Given the description of an element on the screen output the (x, y) to click on. 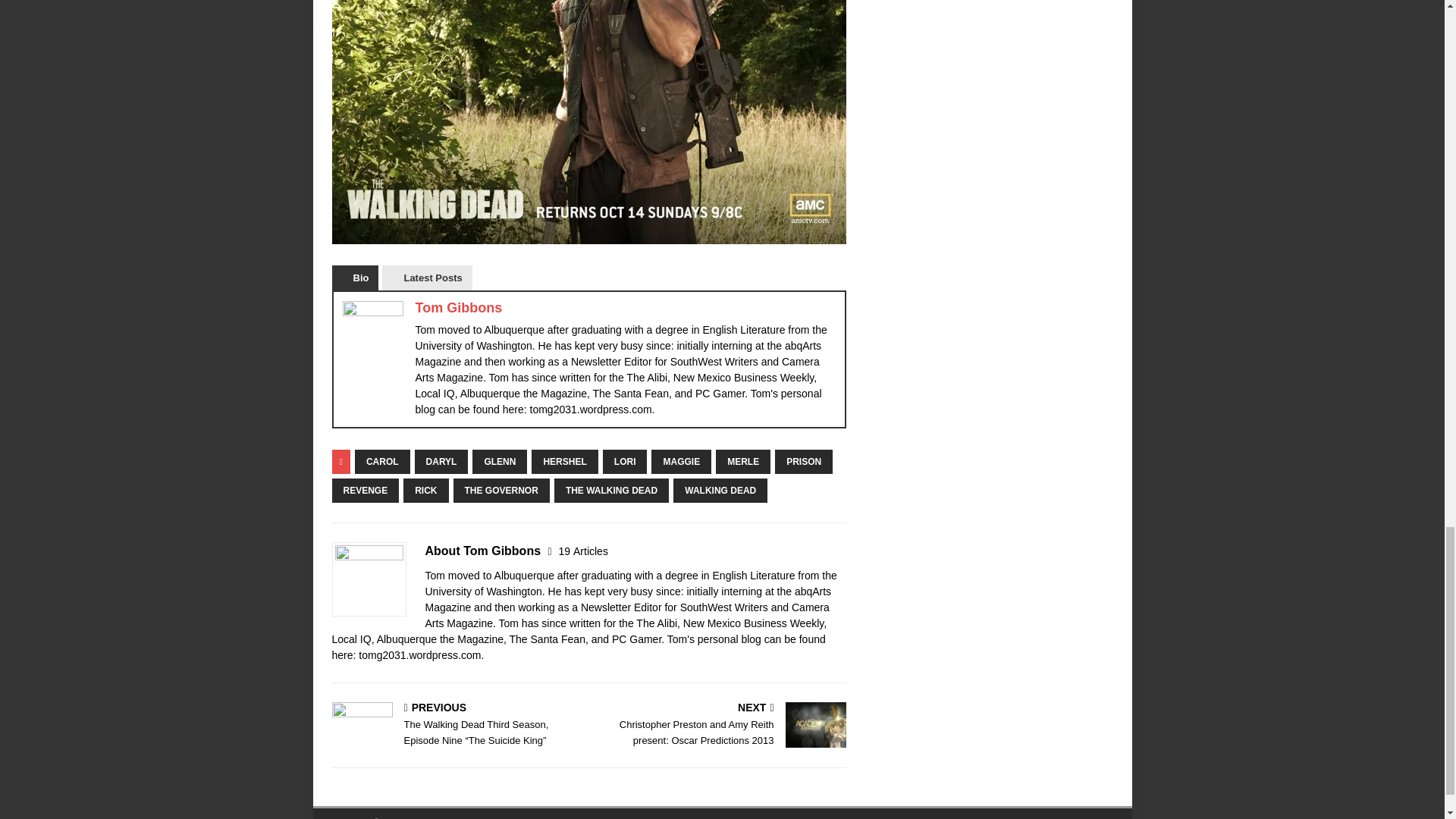
GLENN (499, 461)
MAGGIE (680, 461)
Latest Posts (426, 277)
MERLE (743, 461)
DARYL (441, 461)
Bio (354, 277)
HERSHEL (563, 461)
LORI (624, 461)
CAROL (382, 461)
Tom Gibbons (458, 307)
More articles written by Tom Gibbons' (583, 551)
